Given the description of an element on the screen output the (x, y) to click on. 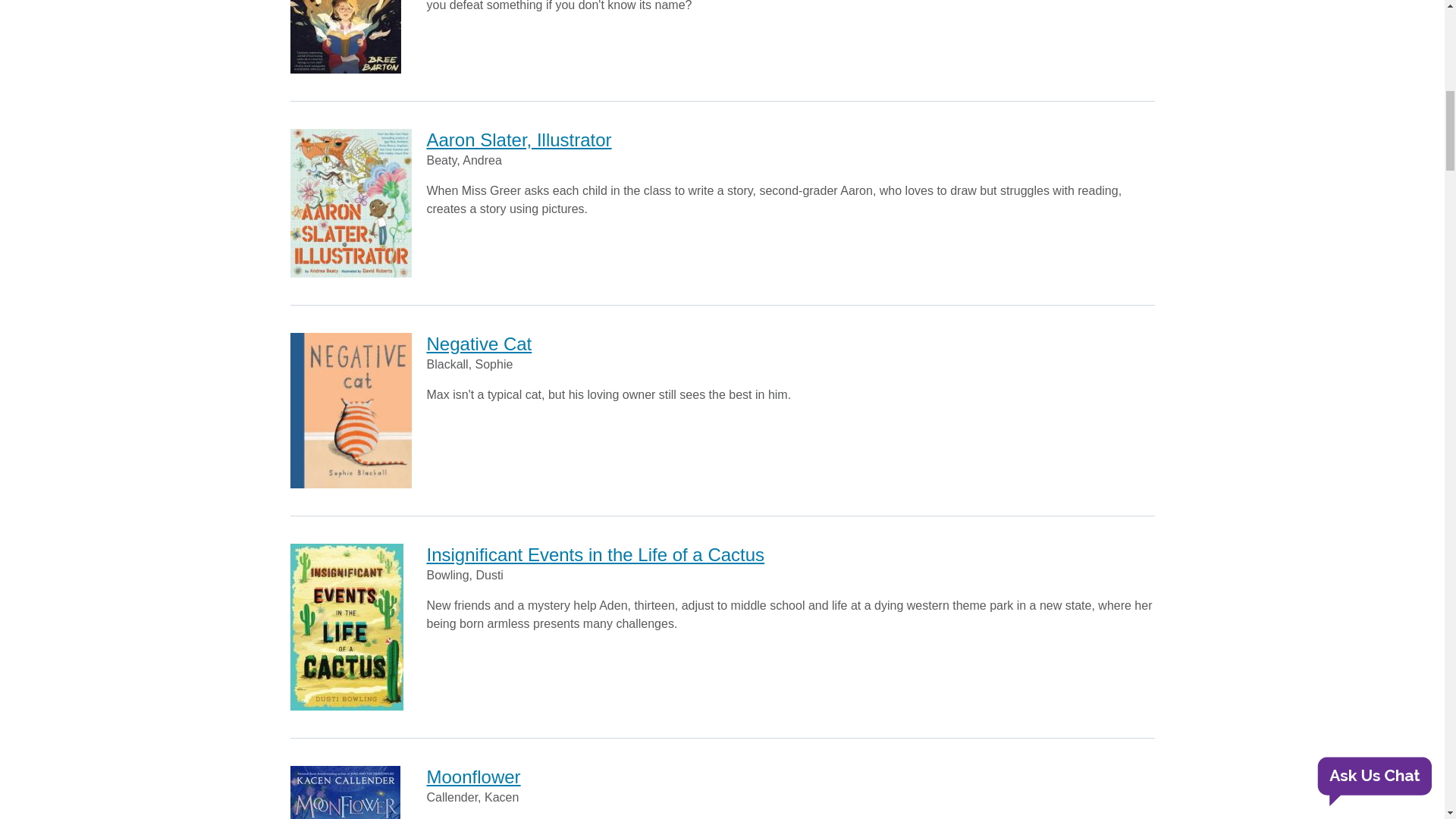
Moonflower (472, 776)
Insignificant Events in the Life of a Cactus (595, 554)
Negative Cat (478, 343)
Aaron Slater, Illustrator (518, 139)
